Given the description of an element on the screen output the (x, y) to click on. 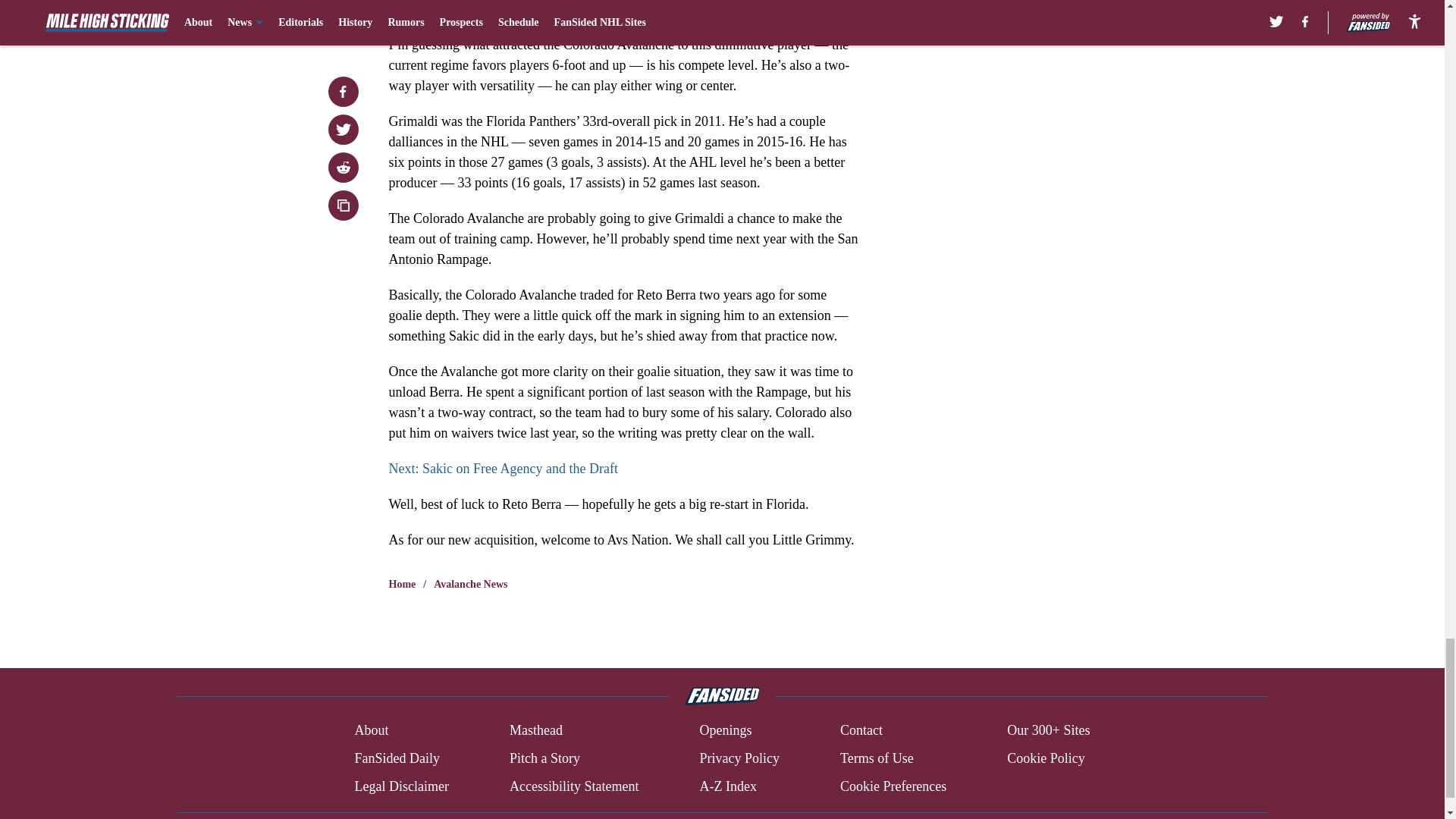
Next: Sakic on Free Agency and the Draft (502, 468)
Privacy Policy (738, 758)
Terms of Use (877, 758)
Pitch a Story (544, 758)
FanSided Daily (396, 758)
Cookie Policy (1045, 758)
About (370, 730)
Contact (861, 730)
Accessibility Statement (574, 786)
Home (401, 584)
Openings (724, 730)
Masthead (535, 730)
Legal Disclaimer (400, 786)
Avalanche News (469, 584)
